Given the description of an element on the screen output the (x, y) to click on. 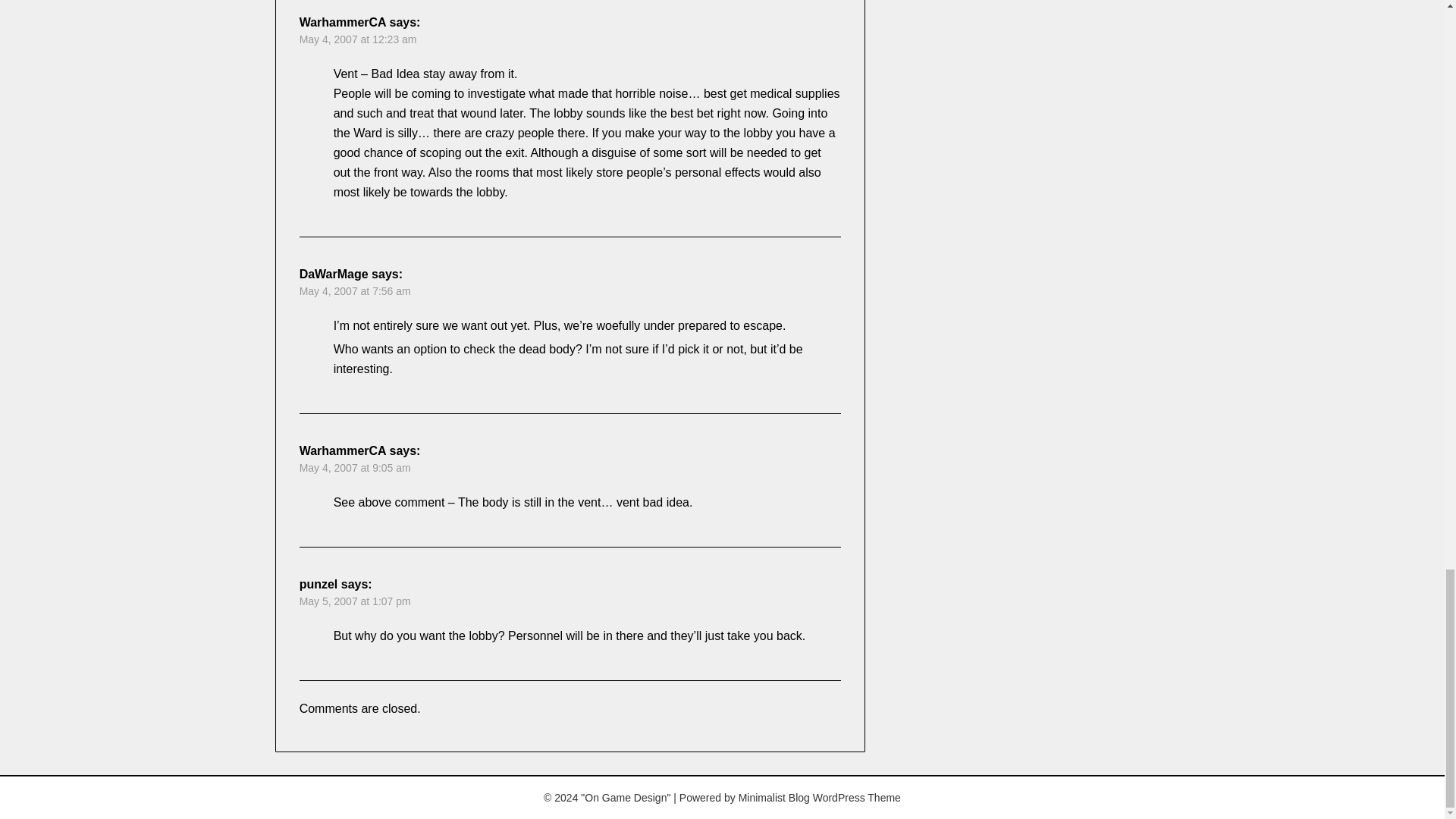
May 4, 2007 at 9:05 am (354, 467)
May 4, 2007 at 12:23 am (357, 39)
May 4, 2007 at 7:56 am (354, 291)
Minimalist Blog (773, 797)
May 5, 2007 at 1:07 pm (354, 601)
